Given the description of an element on the screen output the (x, y) to click on. 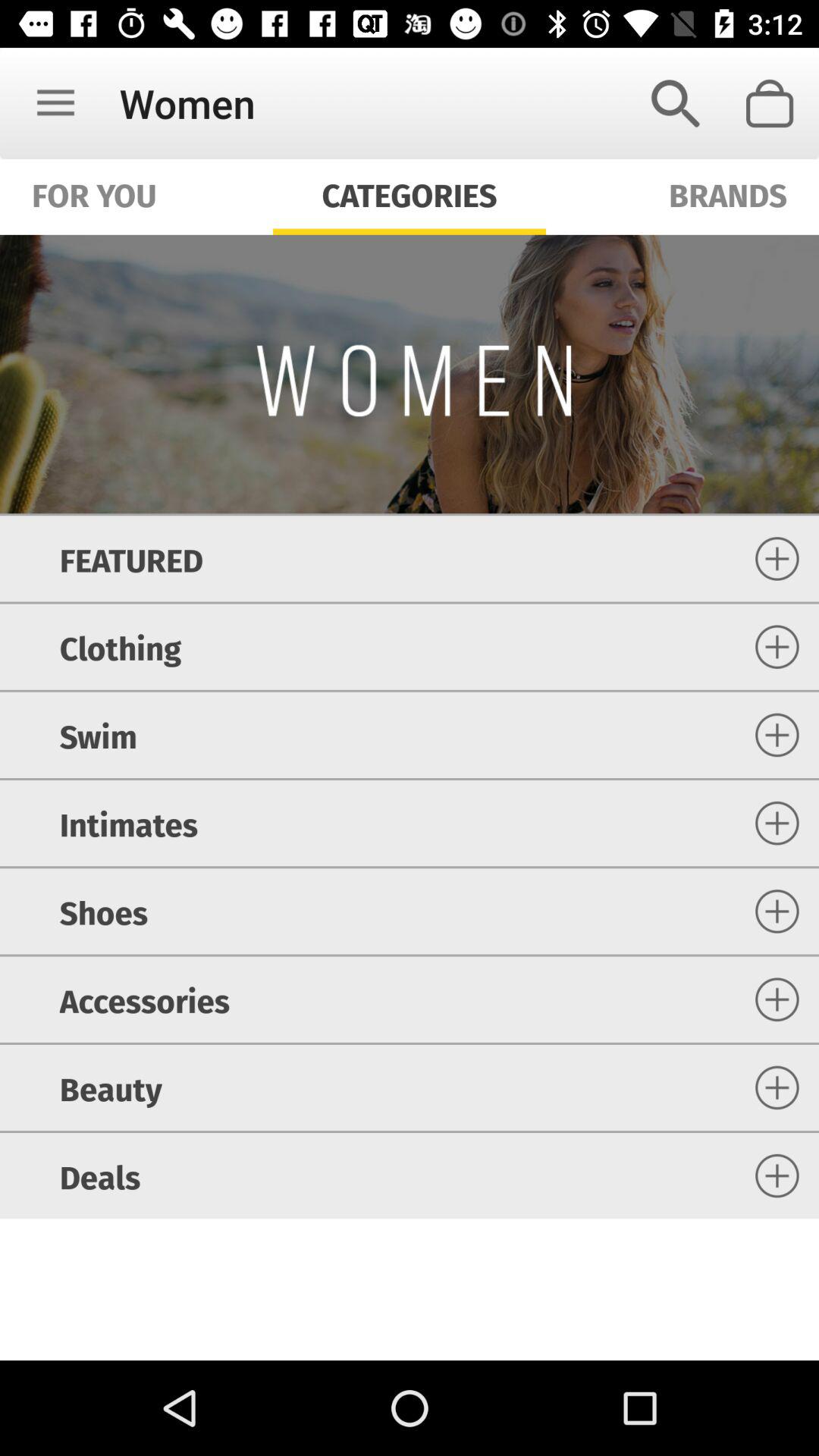
press swim item (98, 735)
